Given the description of an element on the screen output the (x, y) to click on. 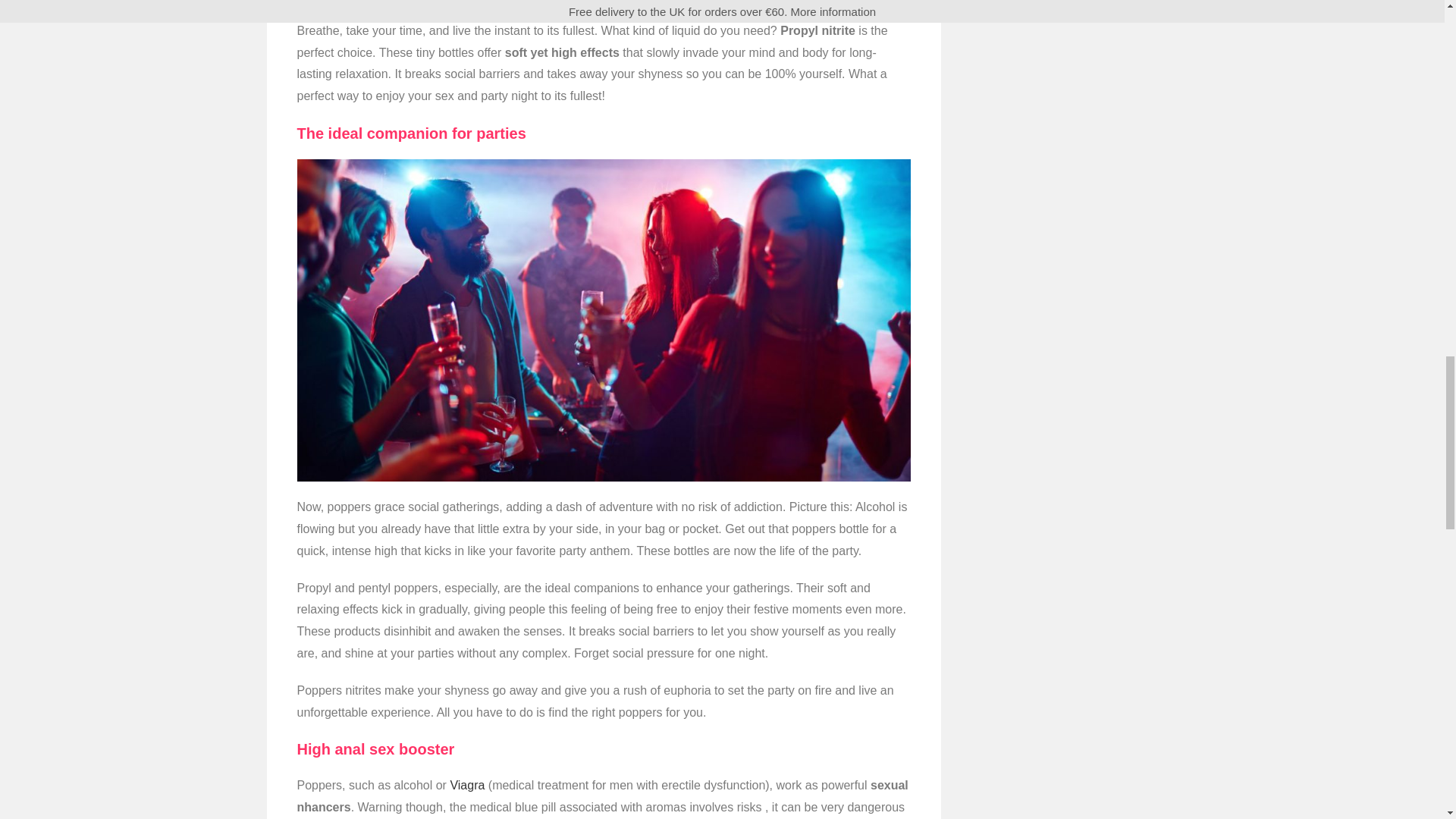
Viagra (466, 784)
